Given the description of an element on the screen output the (x, y) to click on. 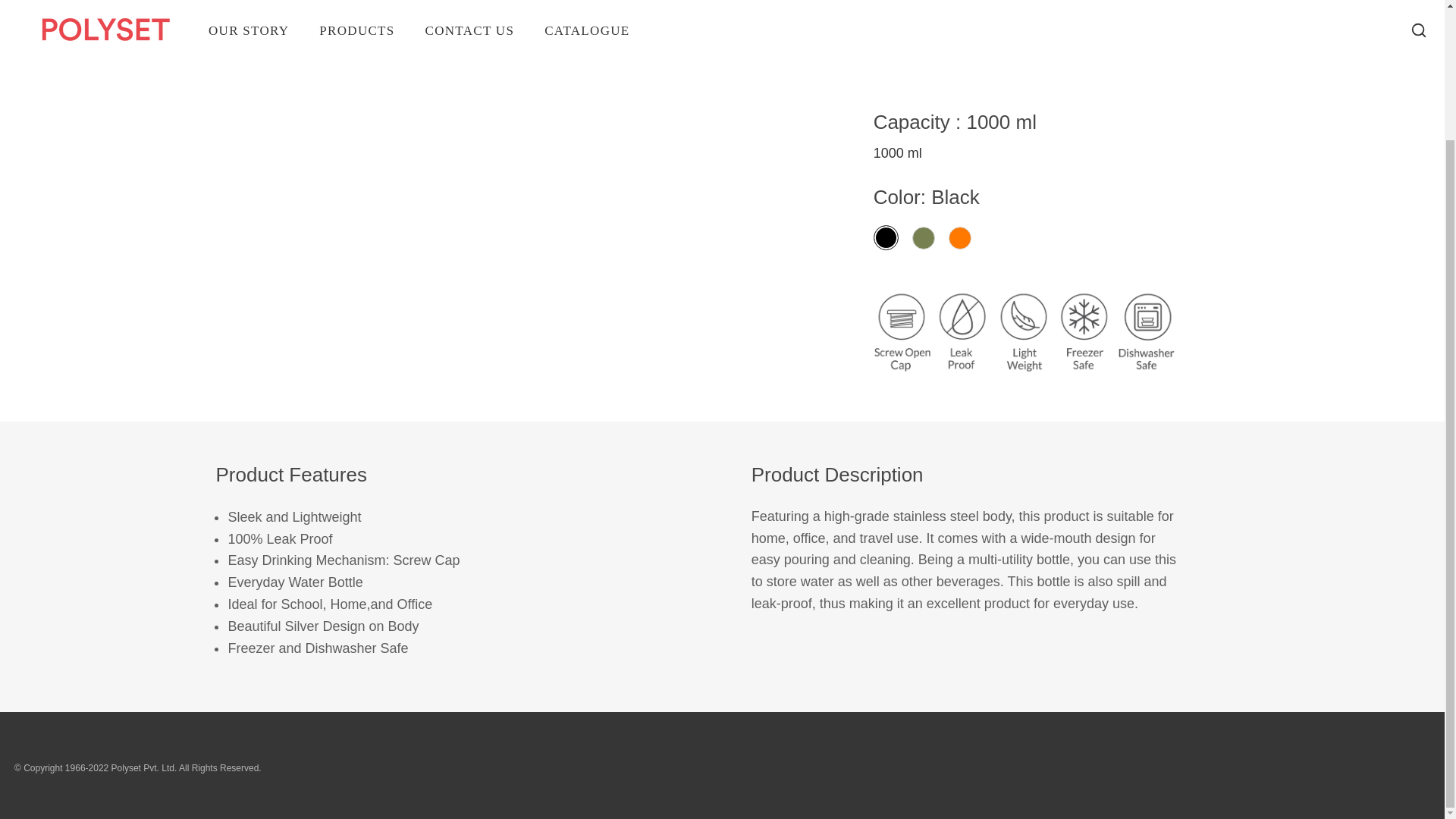
Green (923, 237)
Orange (960, 237)
Black (885, 237)
